Given the description of an element on the screen output the (x, y) to click on. 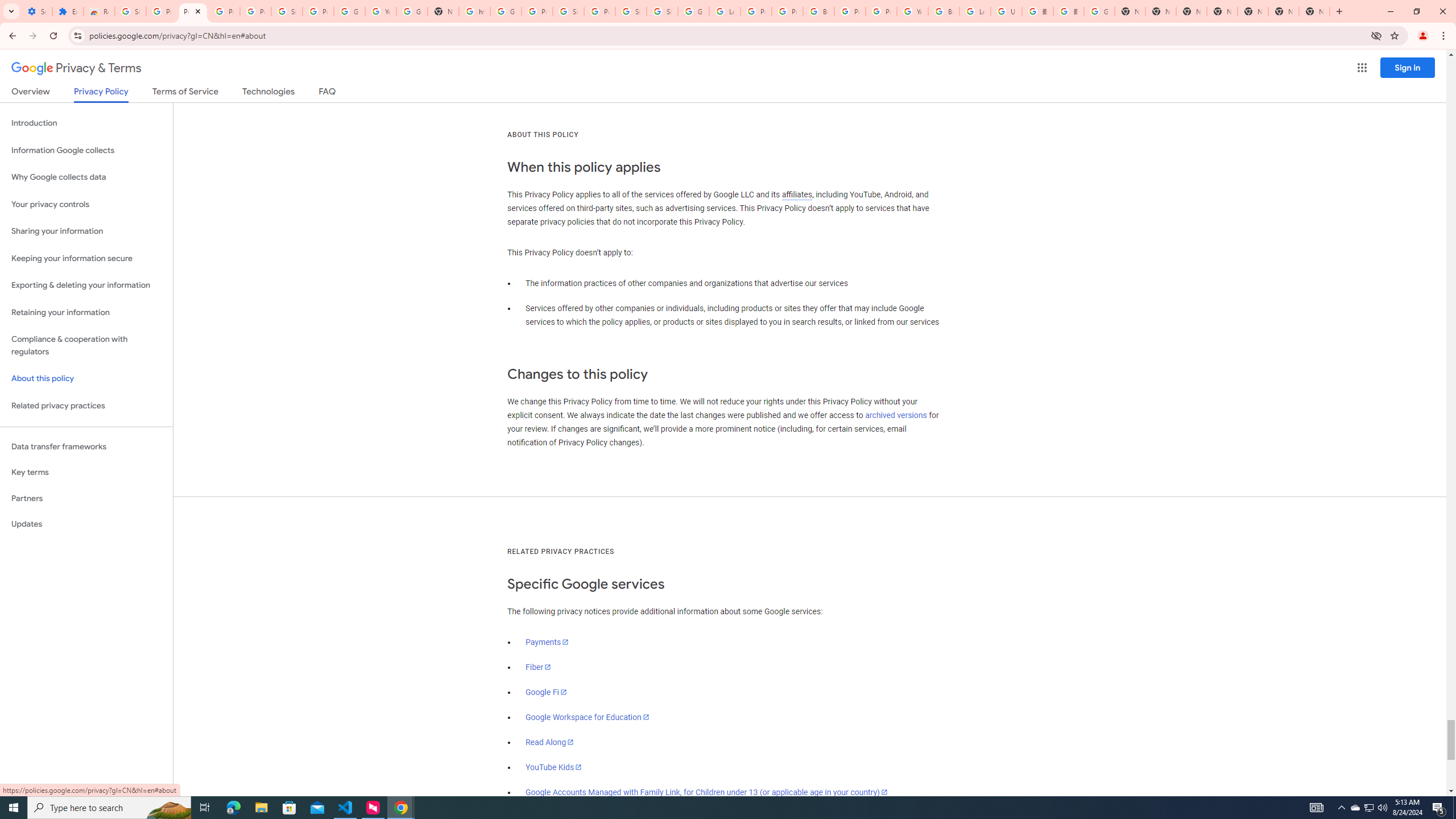
affiliates (796, 194)
Compliance & cooperation with regulators (86, 345)
Your privacy controls (86, 204)
Read Along (550, 741)
